Given the description of an element on the screen output the (x, y) to click on. 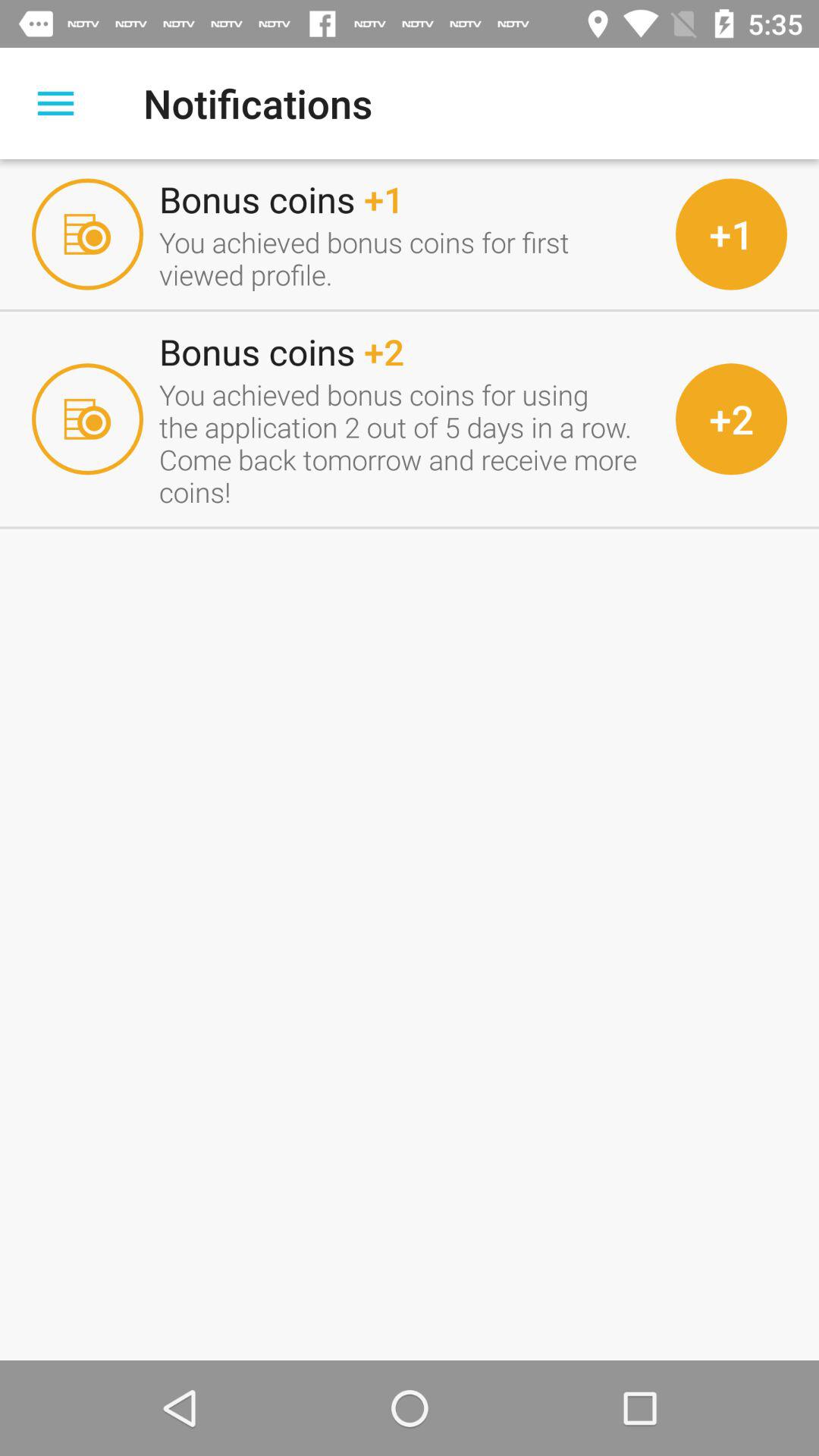
select the icon to the left of notifications (55, 103)
